Given the description of an element on the screen output the (x, y) to click on. 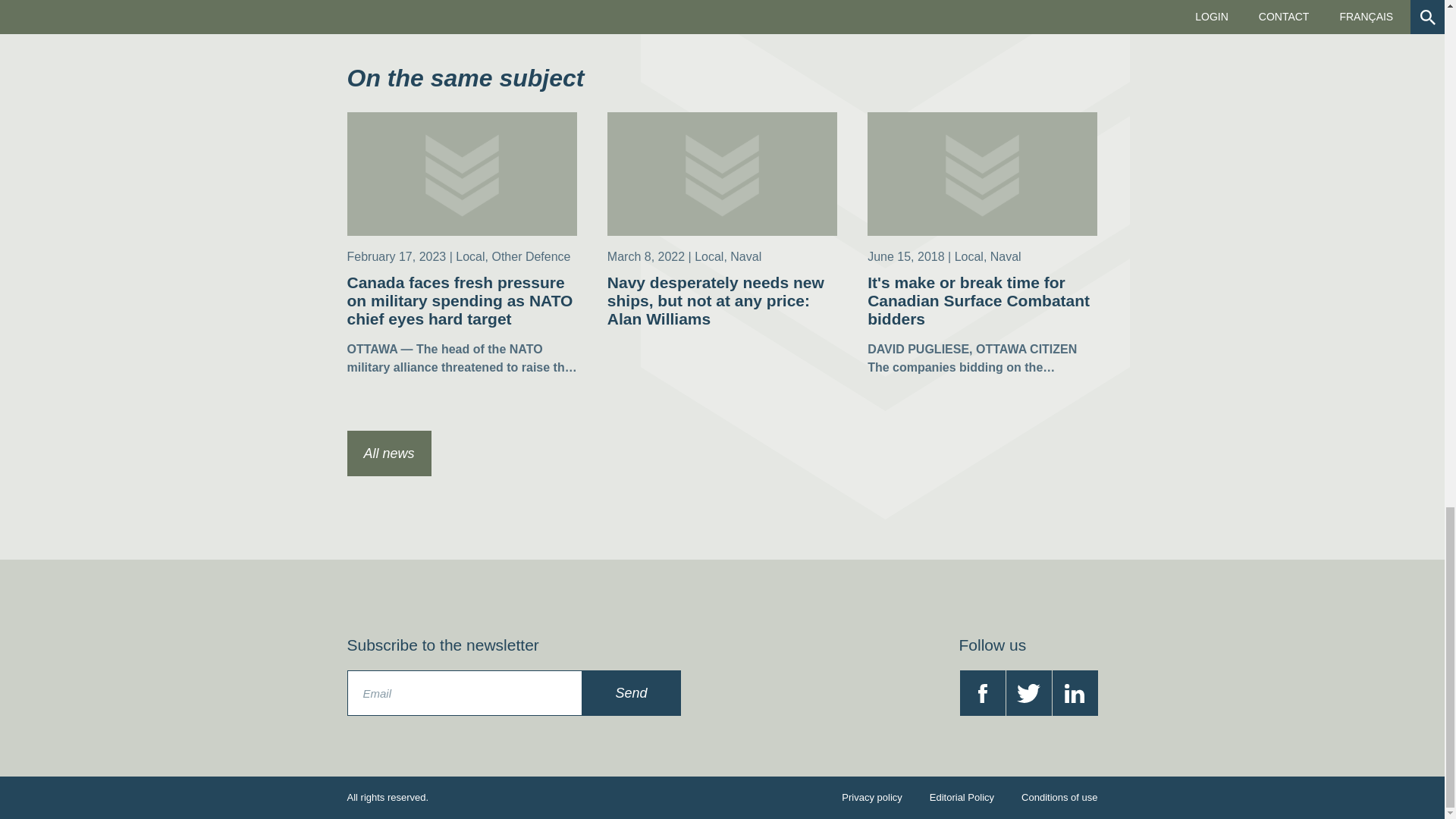
Send (631, 692)
Send (631, 692)
All news (388, 452)
Privacy policy (871, 797)
